Given the description of an element on the screen output the (x, y) to click on. 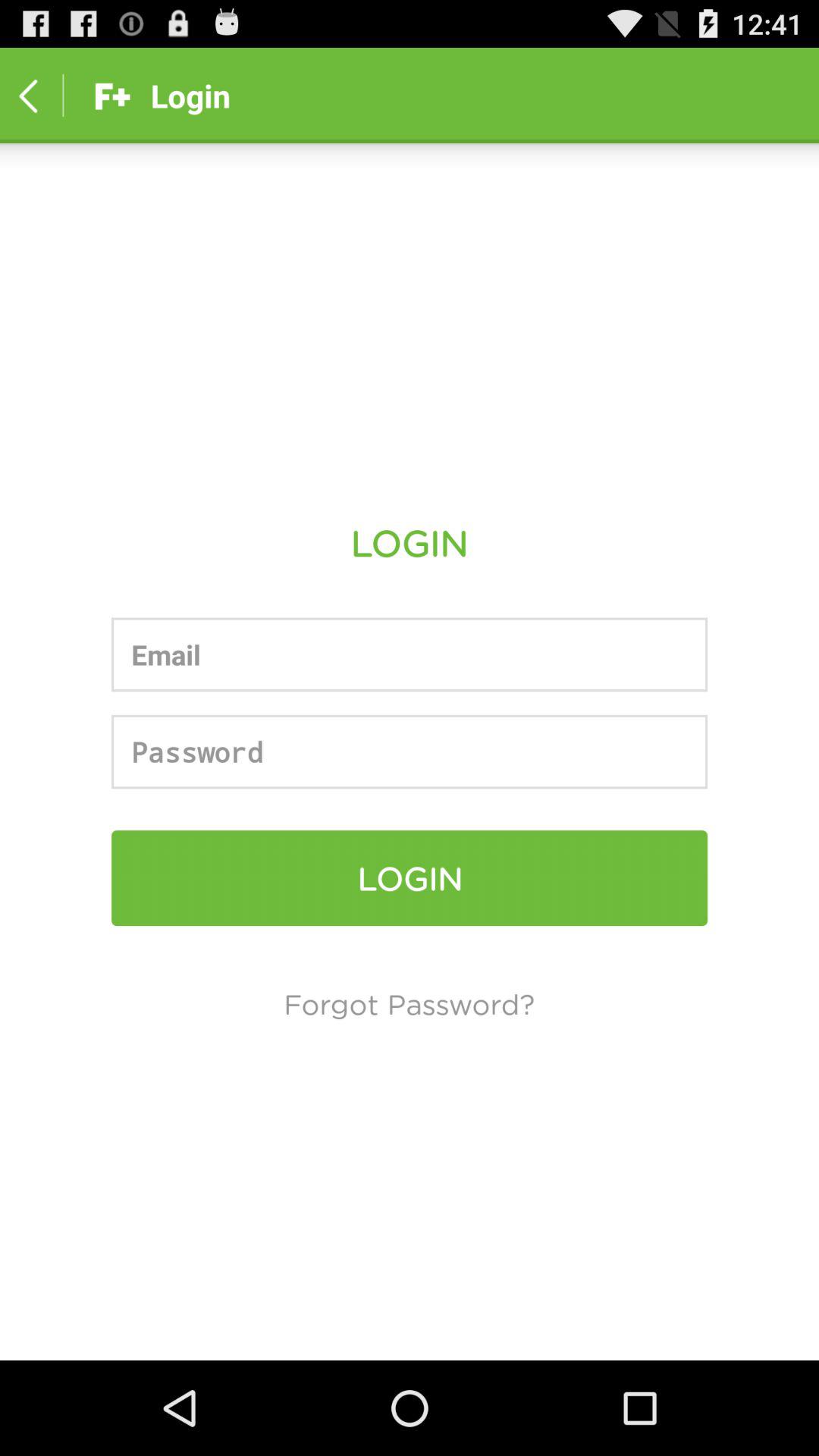
enter email address (409, 654)
